Given the description of an element on the screen output the (x, y) to click on. 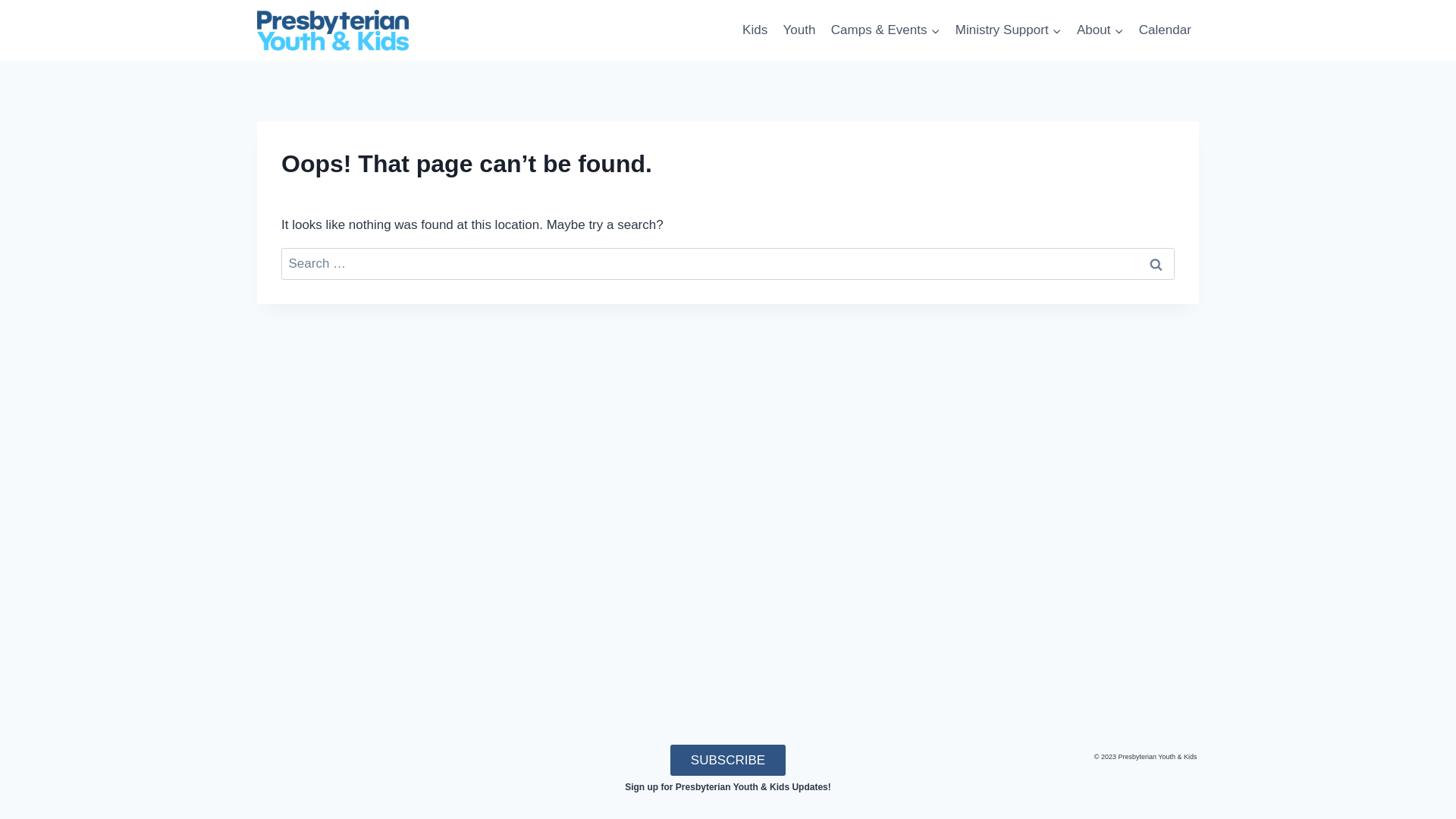
  SUBSCRIBE   Element type: text (727, 760)
Kids Element type: text (754, 30)
Ministry Support Element type: text (1008, 30)
Youth Element type: text (798, 30)
Calendar Element type: text (1164, 30)
About Element type: text (1100, 30)
Camps & Events Element type: text (885, 30)
Search Element type: text (1155, 263)
  SUBSCRIBE   Element type: text (727, 759)
